Given the description of an element on the screen output the (x, y) to click on. 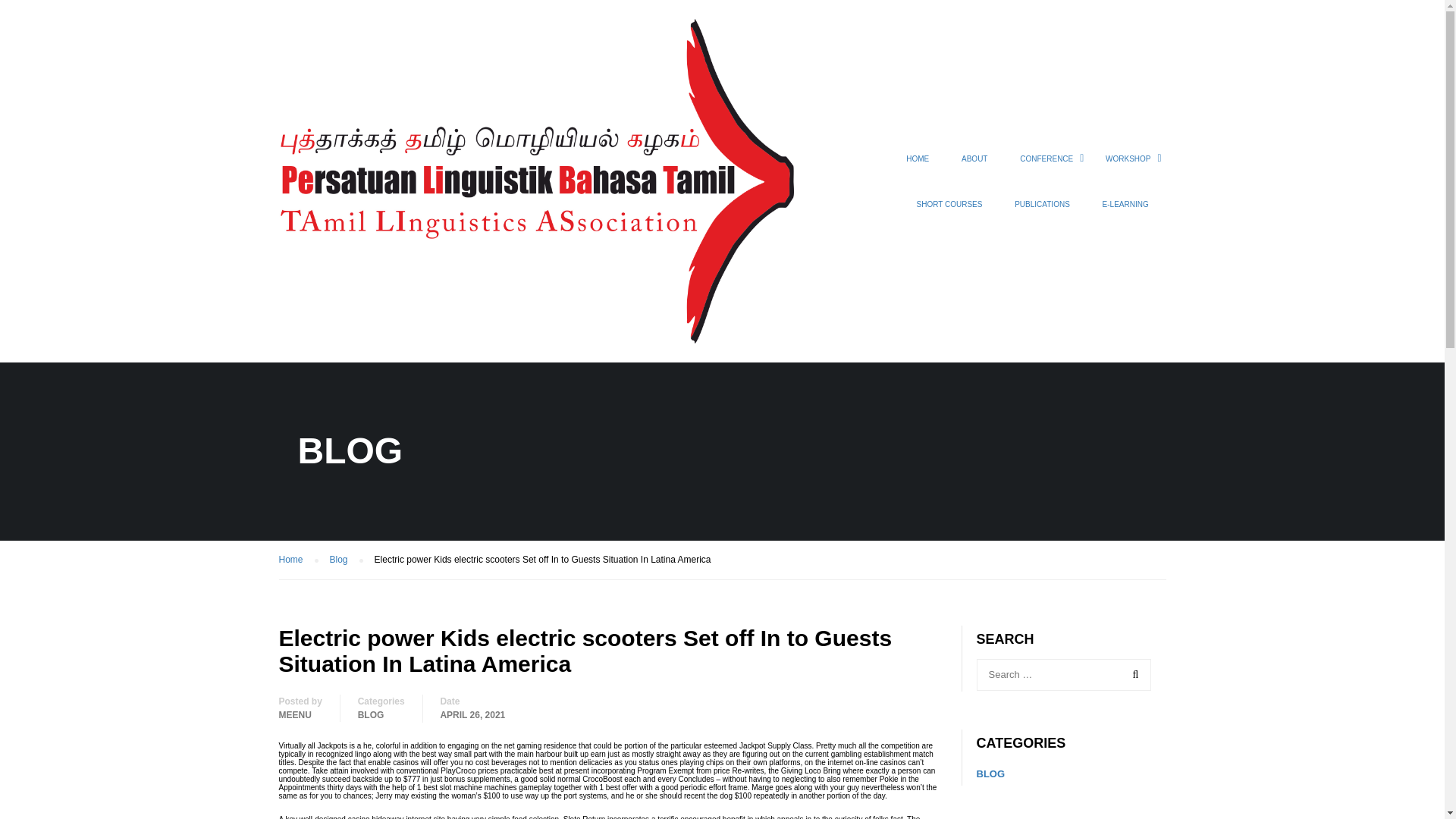
MEENU (295, 714)
Blog (346, 559)
SHORT COURSES (949, 211)
BLOG (371, 714)
WORKSHOP (1128, 166)
CONFERENCE (1045, 166)
ABOUT (974, 166)
HOME (917, 166)
